Given the description of an element on the screen output the (x, y) to click on. 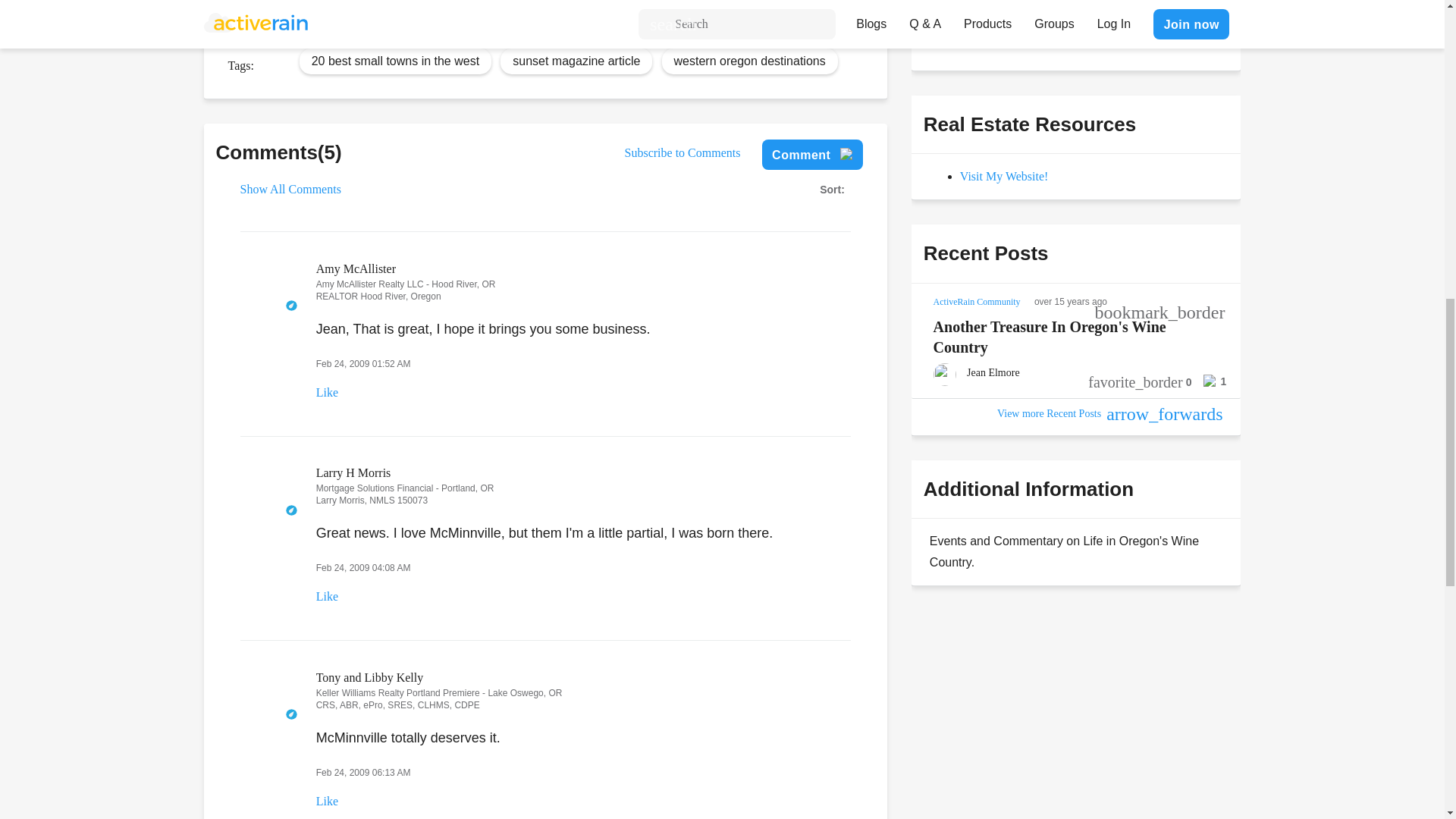
Send Message (978, 30)
Visit My Website! (1003, 175)
Moving to Oregon (359, 2)
